Given the description of an element on the screen output the (x, y) to click on. 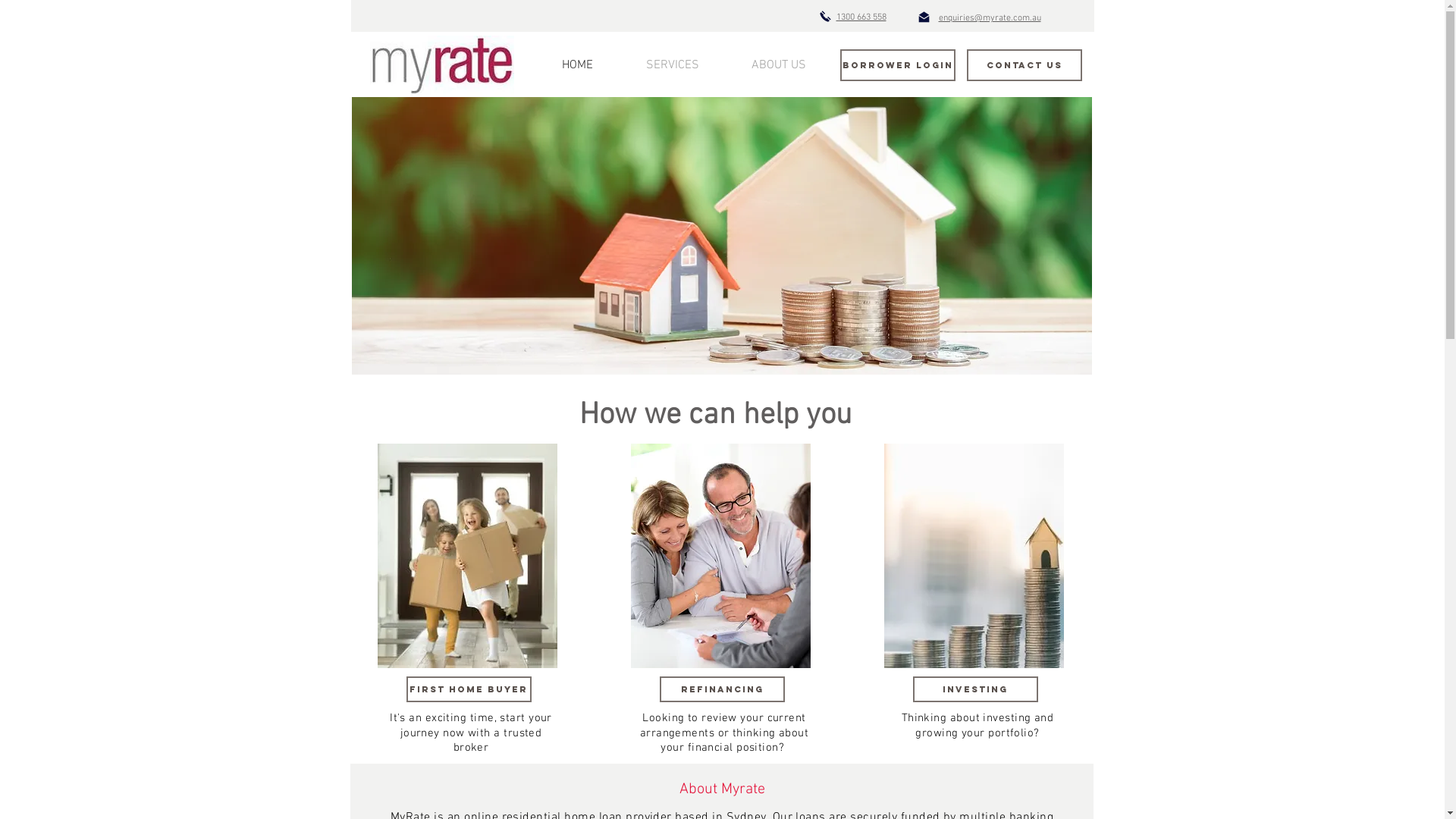
stock-photo-new-house-concept-d-renderin Element type: hover (721, 235)
MYR.jpg Element type: hover (442, 65)
SERVICES Element type: text (671, 64)
ABOUT US Element type: text (777, 64)
Investing Element type: text (975, 689)
enquiries@myrate.com.au Element type: text (989, 17)
CONTACT US Element type: text (1023, 65)
Refinancing Element type: text (721, 689)
BORROWER LOGIN Element type: text (897, 65)
First Home Buyer Element type: text (468, 689)
HOME Element type: text (577, 64)
1300 663 558 Element type: text (860, 17)
